Given the description of an element on the screen output the (x, y) to click on. 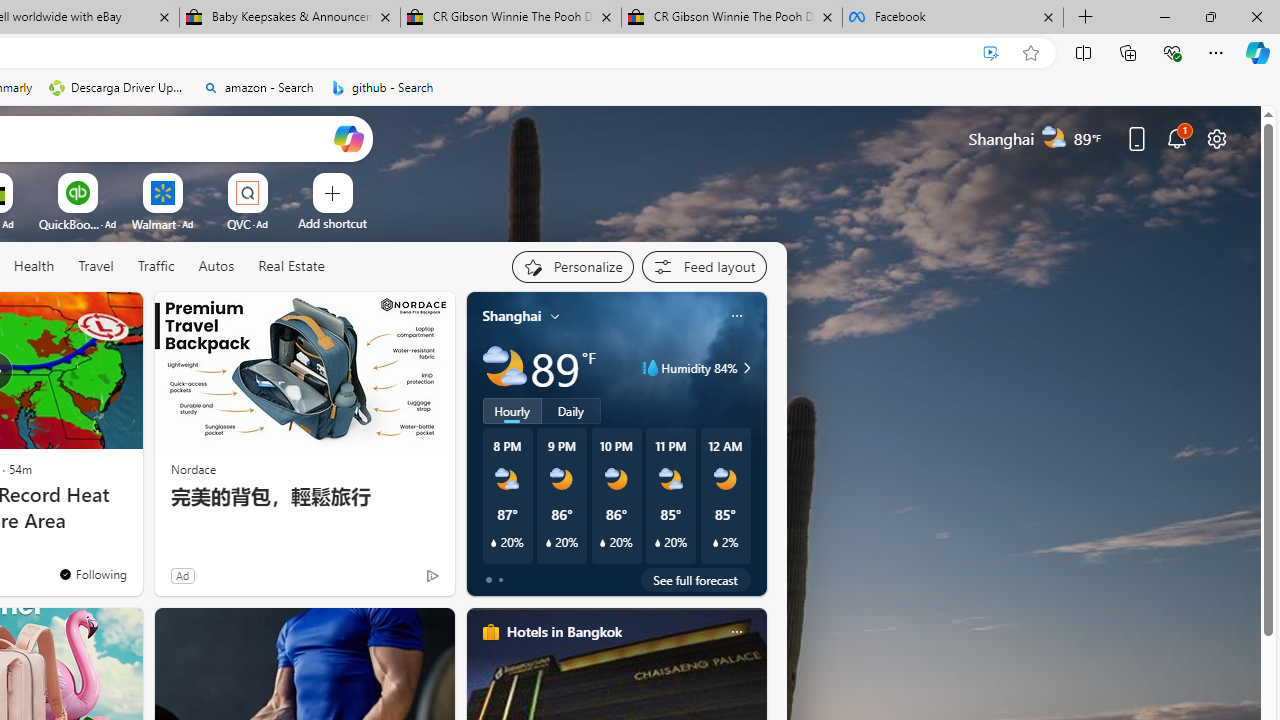
tab-0 (488, 579)
Class: weather-arrow-glyph (746, 367)
Real Estate (291, 265)
Hide this story (82, 315)
Health (34, 265)
Partly cloudy (504, 368)
Autos (215, 265)
Humidity 84% (744, 367)
Partly cloudy (504, 368)
Travel (95, 265)
